Given the description of an element on the screen output the (x, y) to click on. 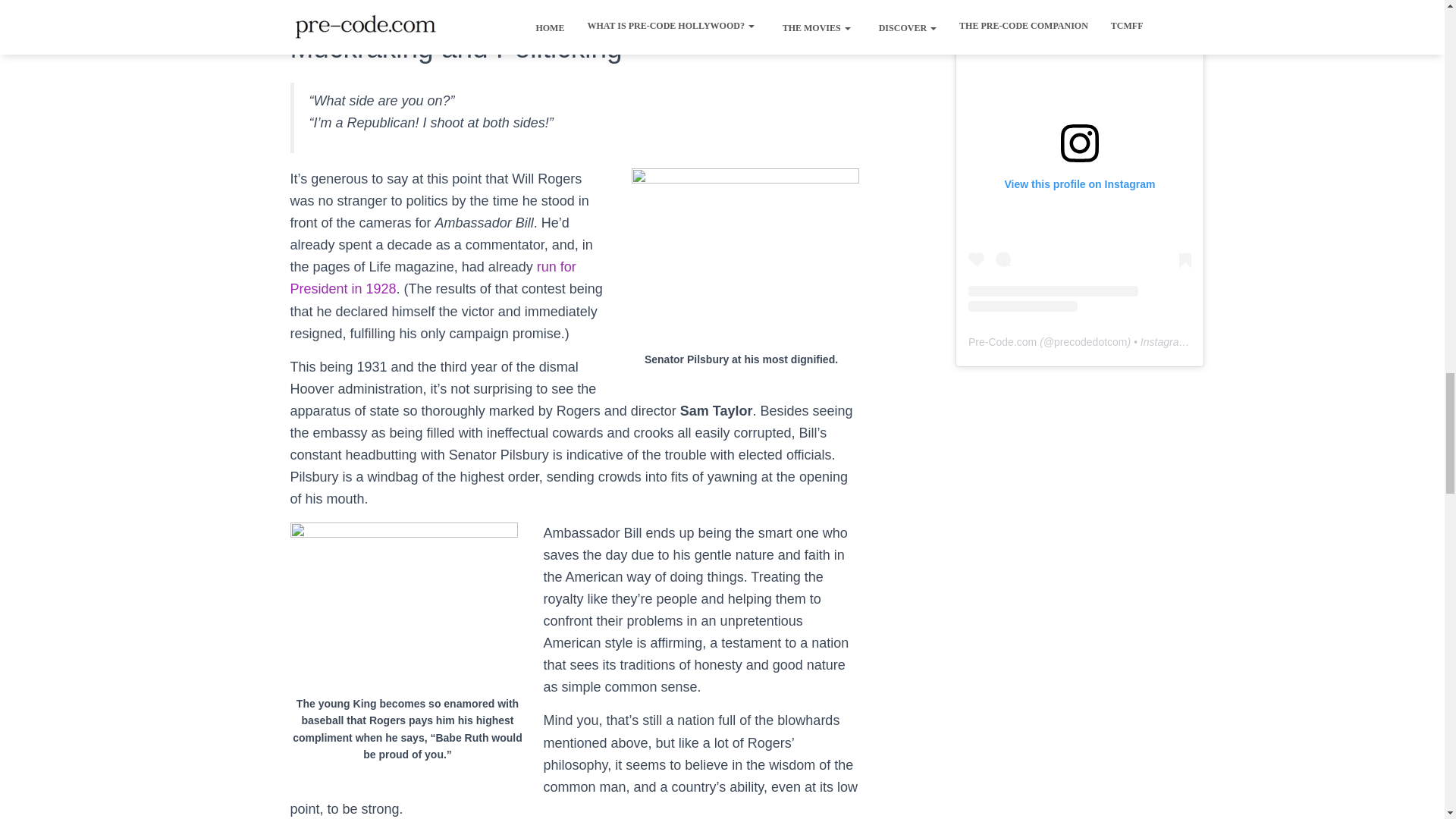
run for President in 1928 (432, 277)
